Given the description of an element on the screen output the (x, y) to click on. 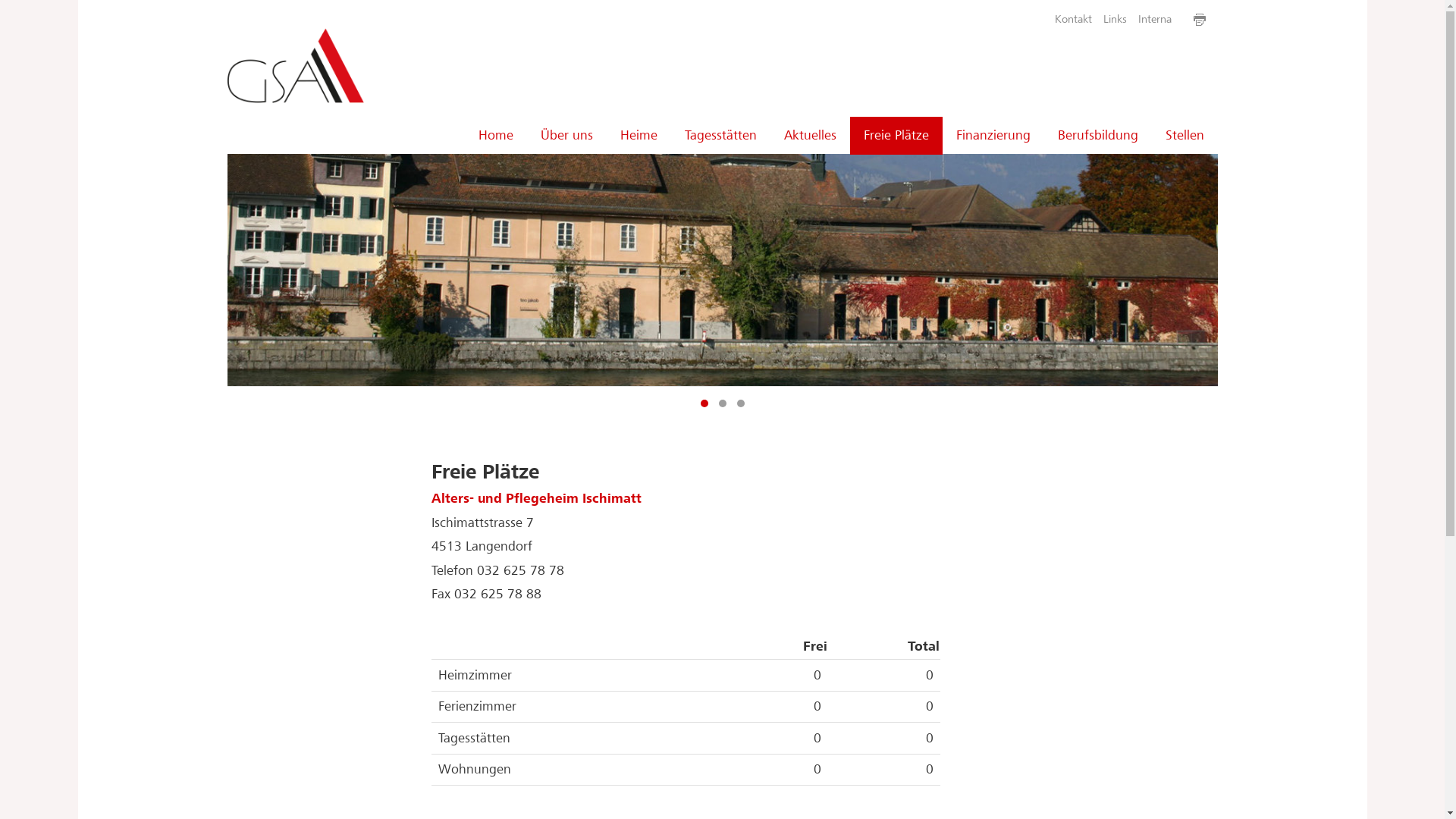
Finanzierung Element type: text (992, 135)
Alters- und Pflegeheim Ischimatt Element type: text (536, 498)
Home Element type: text (495, 135)
Heime Element type: text (638, 135)
Kontakt Element type: text (1072, 19)
Links Element type: text (1114, 19)
Stellen Element type: text (1184, 135)
Interna Element type: text (1154, 19)
Aktuelles Element type: text (810, 135)
Berufsbildung Element type: text (1097, 135)
